Given the description of an element on the screen output the (x, y) to click on. 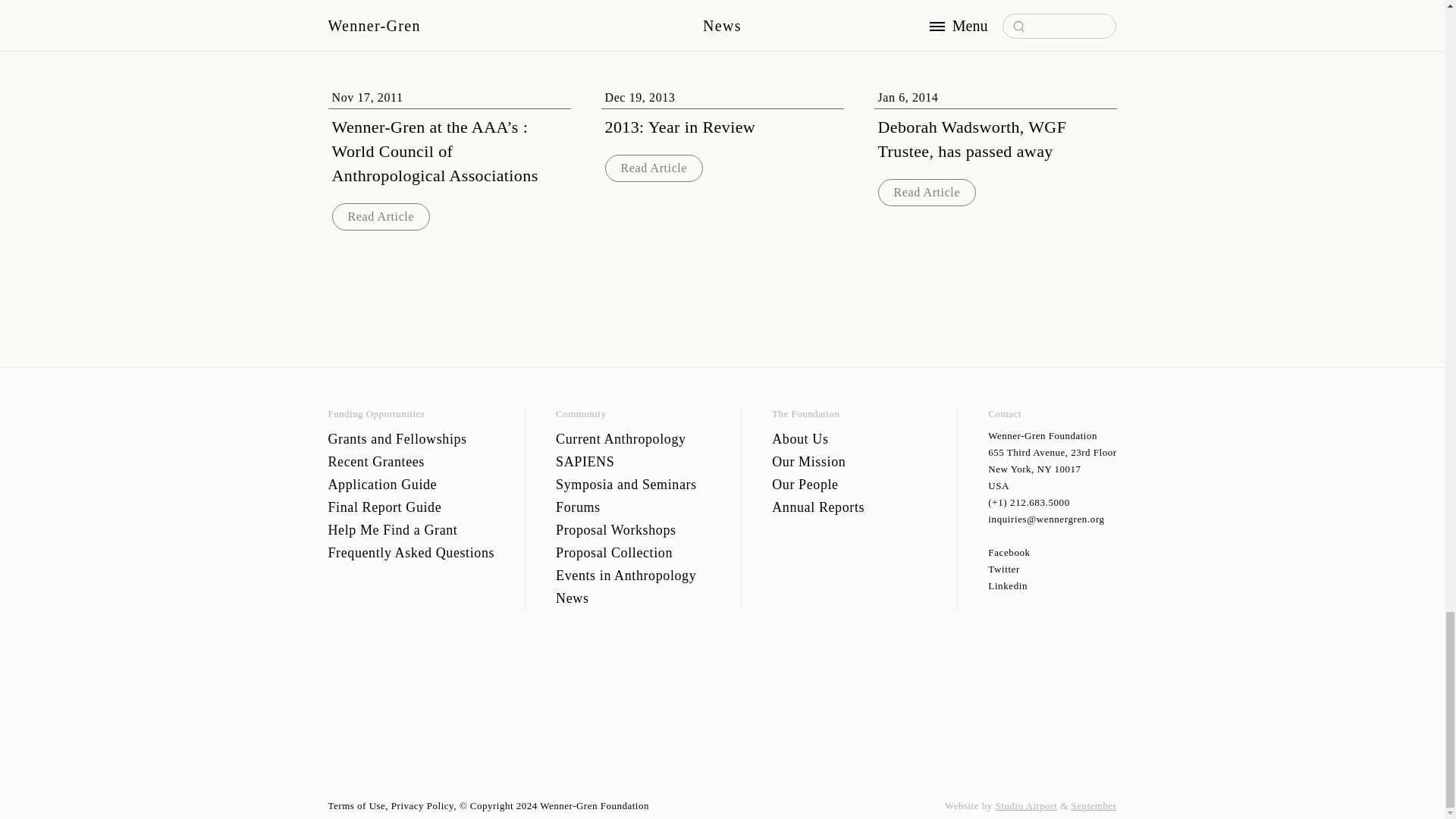
linkedin (1052, 586)
Read Article (654, 166)
twitter (1052, 569)
Recent Grantees (411, 461)
Grants and Fellowships (411, 438)
Read Article (380, 216)
facebook (1052, 552)
Read Article (926, 191)
